Given the description of an element on the screen output the (x, y) to click on. 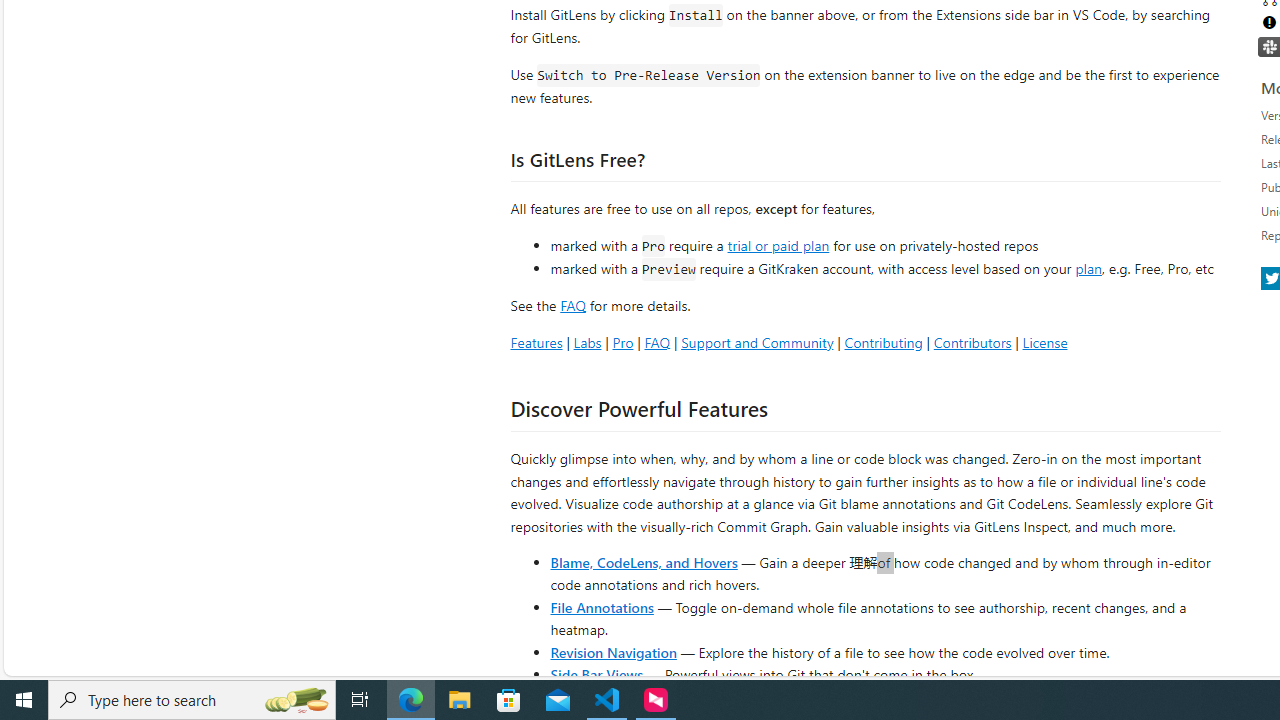
Features (536, 341)
Pro (622, 341)
Labs (587, 341)
trial or paid plan (778, 244)
